Given the description of an element on the screen output the (x, y) to click on. 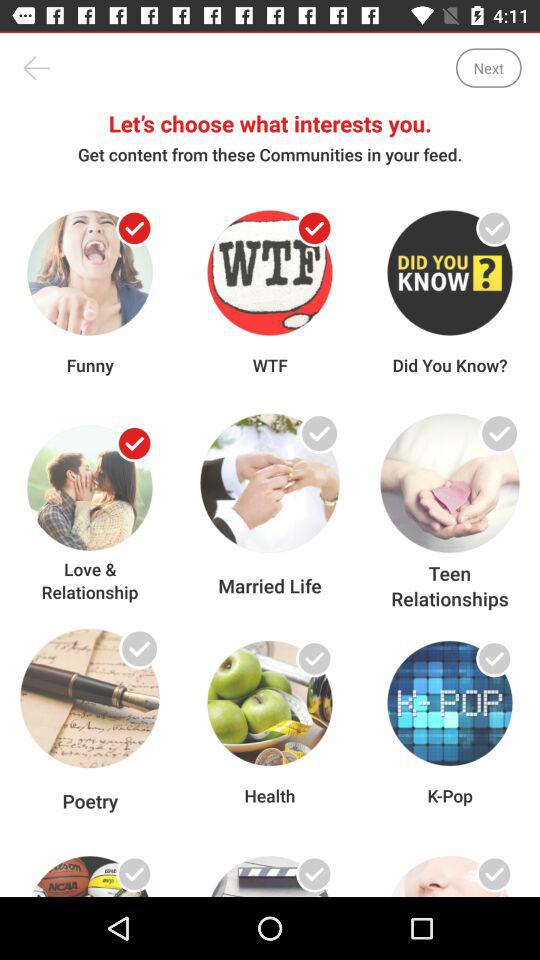
choose category (494, 658)
